Given the description of an element on the screen output the (x, y) to click on. 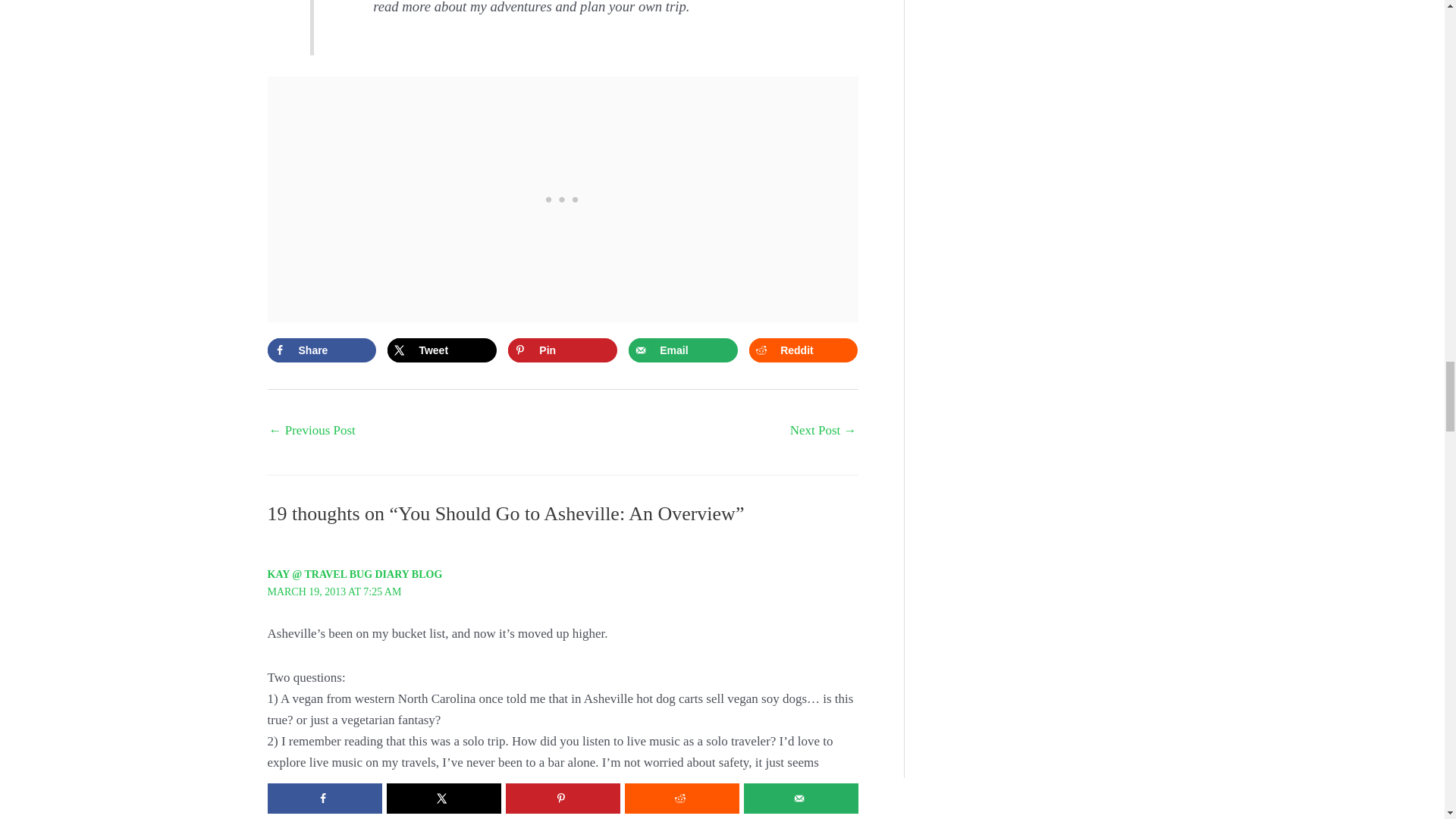
Share (320, 350)
Email (682, 350)
Share on Facebook (320, 350)
Share on X (441, 350)
MARCH 19, 2013 AT 7:25 AM (333, 591)
Share on Reddit (803, 350)
Pin (561, 350)
The Primland Challenge (311, 431)
Save to Pinterest (561, 350)
A Delicious Tour with Eating Asheville (823, 431)
